Given the description of an element on the screen output the (x, y) to click on. 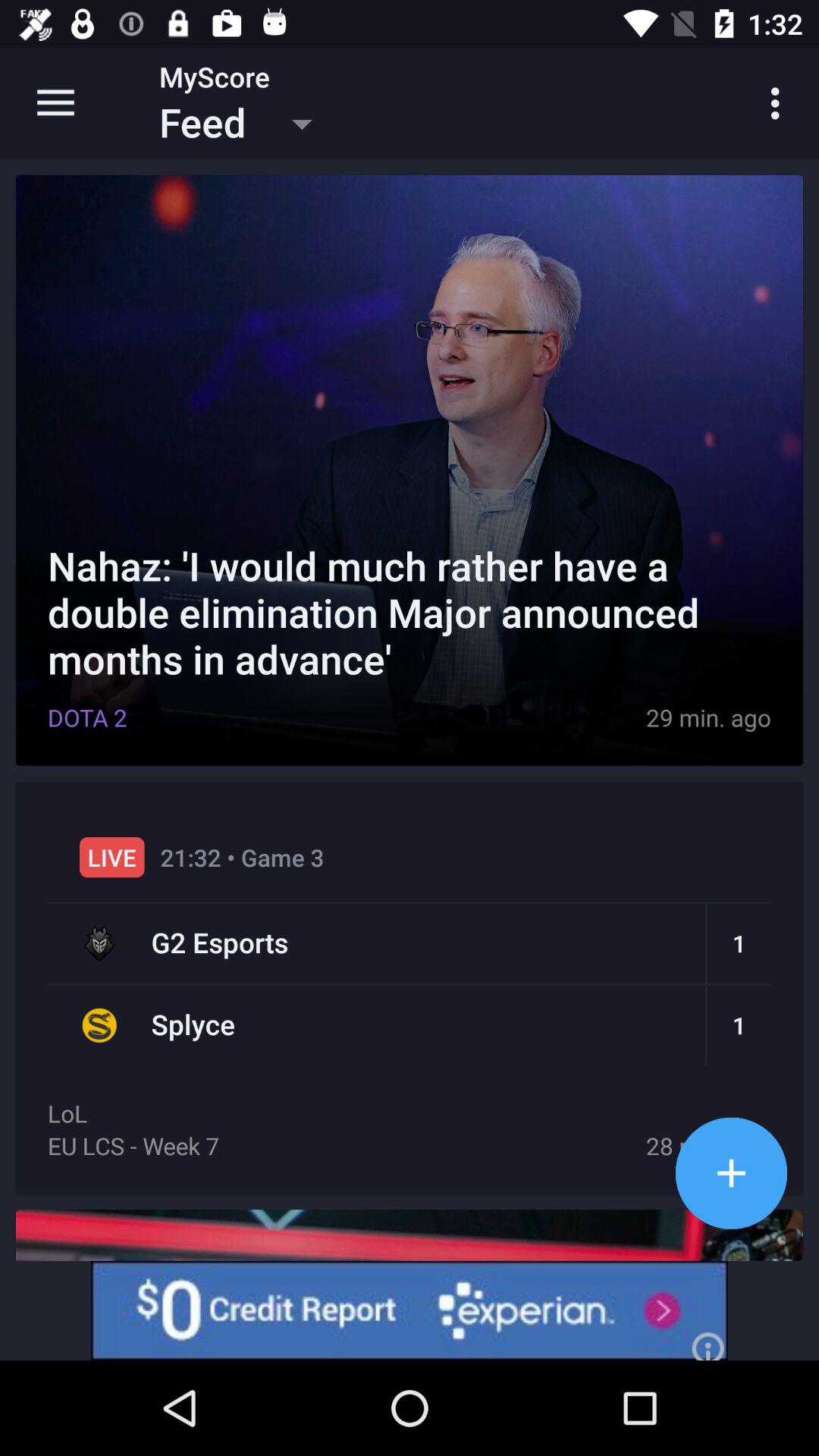
more click (731, 1173)
